Given the description of an element on the screen output the (x, y) to click on. 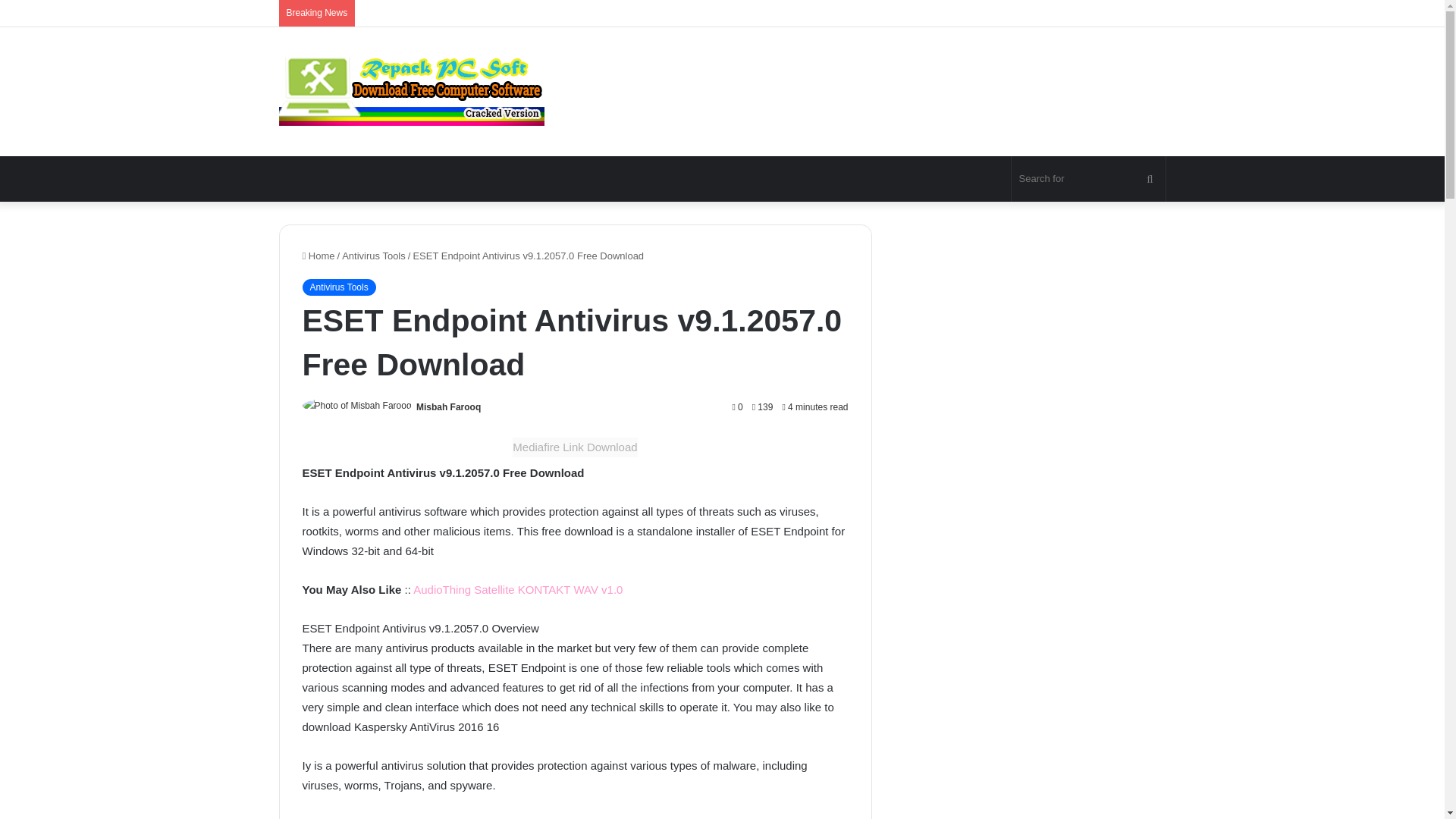
Search for (1088, 178)
Latest Software Pre Activated - Cracked Free Download (411, 91)
Misbah Farooq (448, 407)
Mediafire Link Download (574, 447)
Antivirus Tools (374, 255)
Antivirus Tools (338, 287)
Home (317, 255)
Misbah Farooq (448, 407)
AudioThing Satellite KONTAKT WAV v1.0 (518, 589)
